Given the description of an element on the screen output the (x, y) to click on. 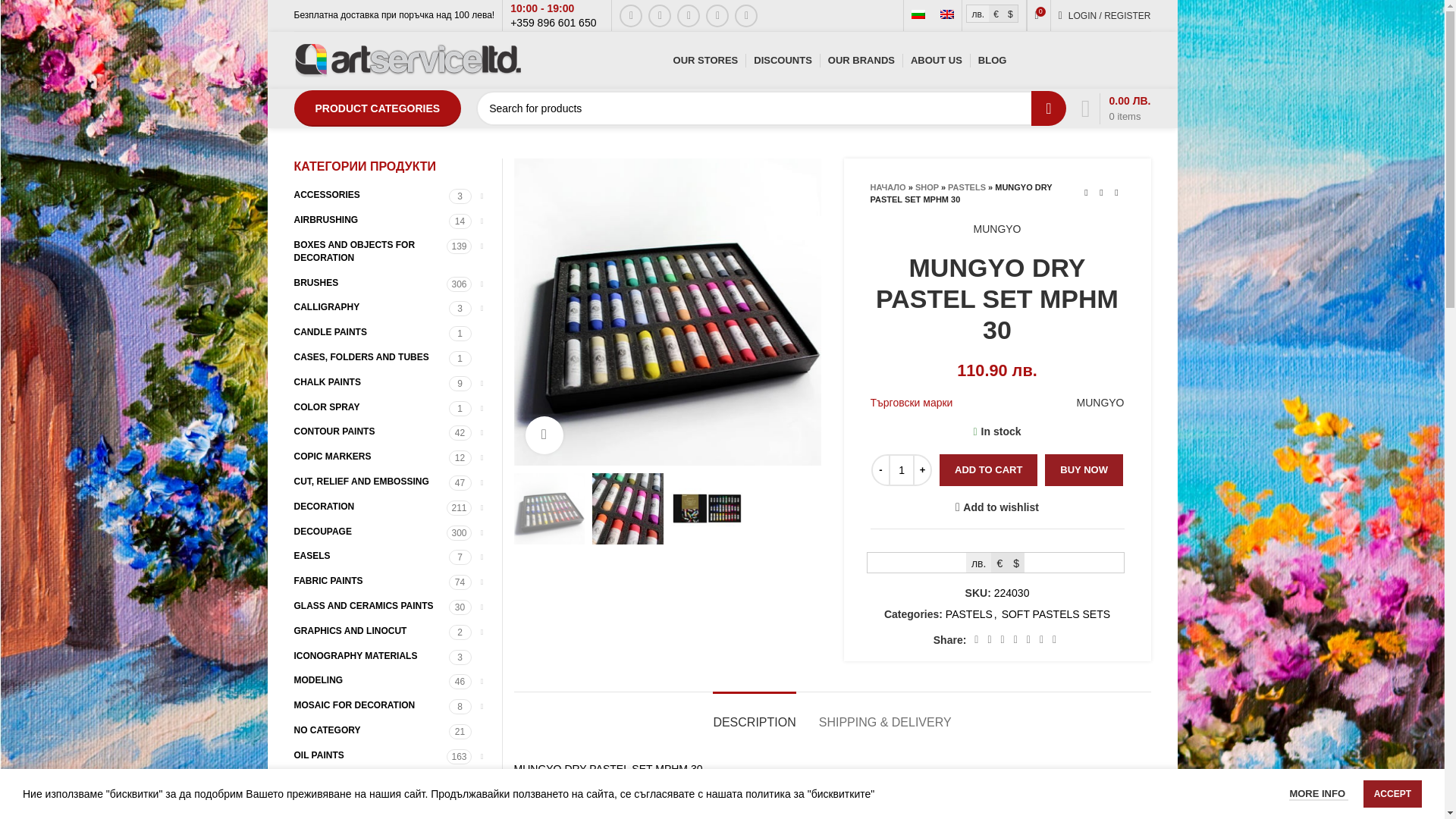
OUR BRANDS (861, 60)
OUR STORES (705, 60)
DISCOUNTS (783, 60)
My account (1104, 15)
Search for products (770, 108)
SHOP (927, 186)
SEARCH (1047, 108)
Shopping cart (1116, 107)
PRODUCT CATEGORIES (377, 108)
PASTELS (966, 186)
ABOUT US (936, 60)
BLOG (992, 60)
